Given the description of an element on the screen output the (x, y) to click on. 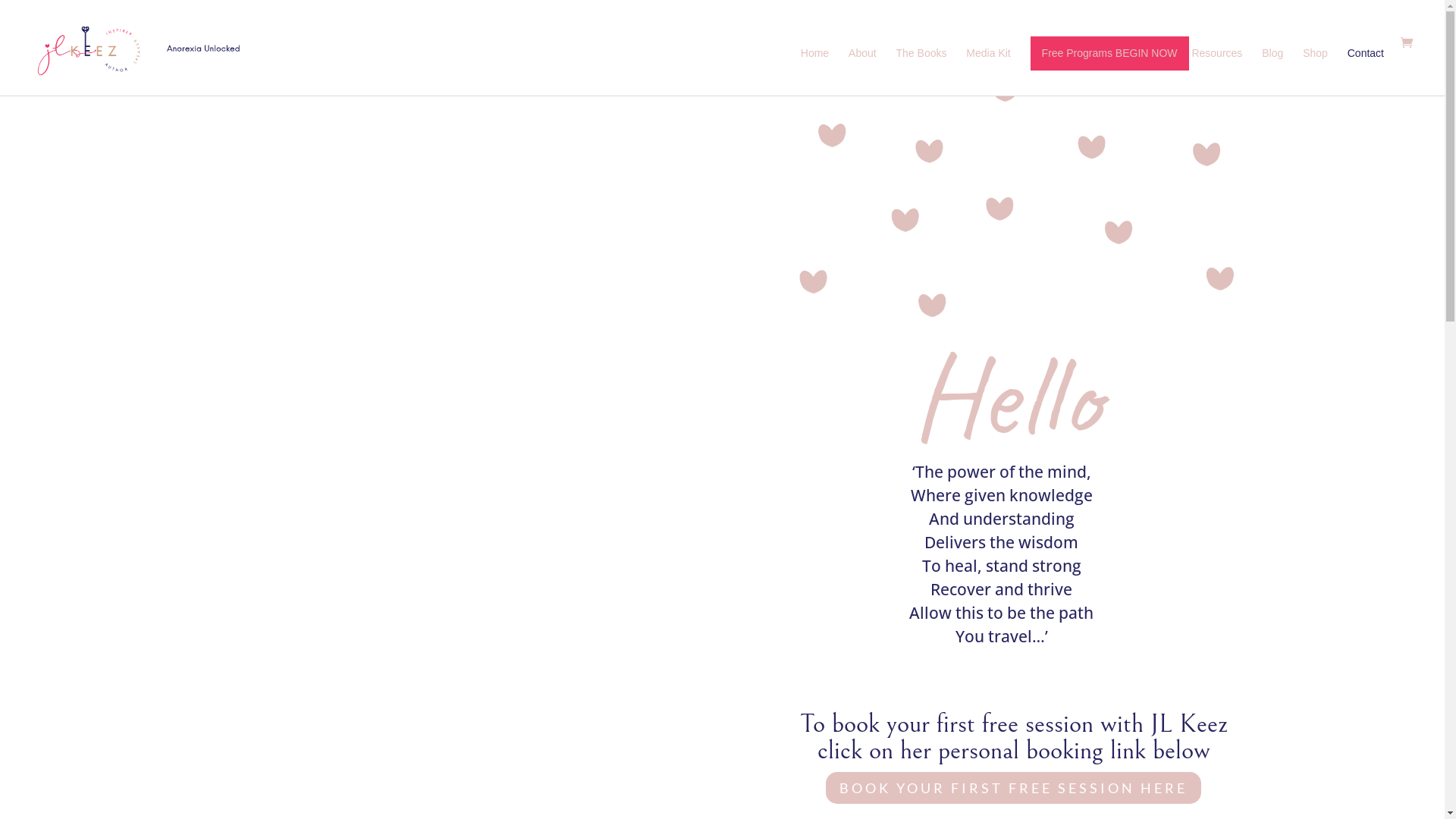
About Element type: text (862, 71)
Free Programs BEGIN NOW Element type: text (1109, 53)
Resources Element type: text (1216, 71)
Home Element type: text (814, 71)
Media Kit Element type: text (988, 71)
The Books Element type: text (921, 71)
BOOK YOUR FIRST FREE SESSION HERE Element type: text (1013, 787)
Shop Element type: text (1314, 71)
Blog Element type: text (1272, 71)
Contact Element type: text (1365, 71)
